Given the description of an element on the screen output the (x, y) to click on. 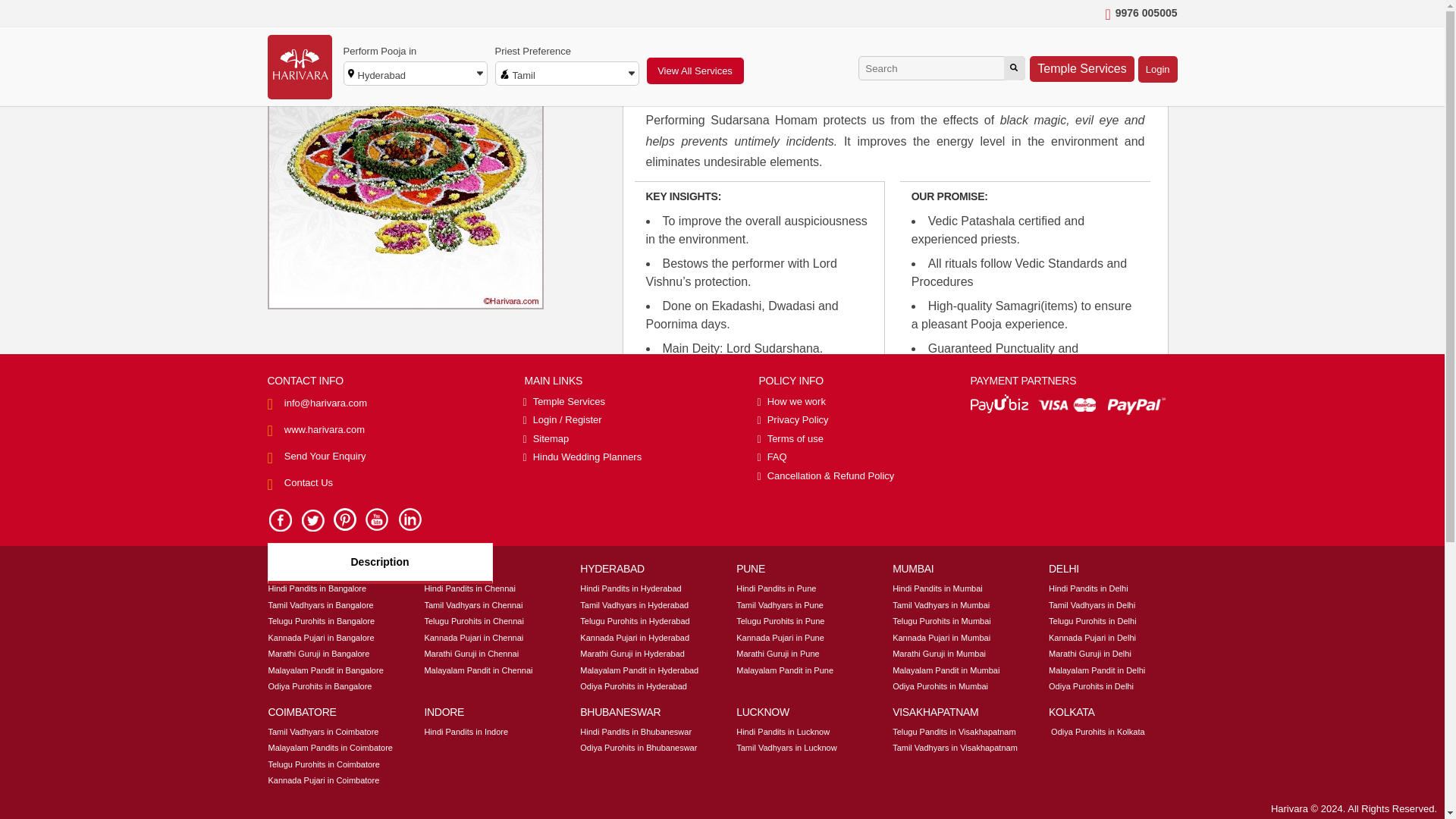
Sudarsana Homam (450, 16)
Description (379, 562)
Temple Services (564, 401)
View All Services (695, 71)
www.harivara.com (324, 429)
Temple Services (1080, 68)
Sudarsana Homam (404, 171)
Sudarsana Homam (450, 16)
Send Your Enquiry (324, 455)
View All Services (695, 71)
Homam (381, 17)
Home (284, 17)
Login (1157, 69)
View Pricing And Packages (1088, 490)
Services (331, 17)
